Given the description of an element on the screen output the (x, y) to click on. 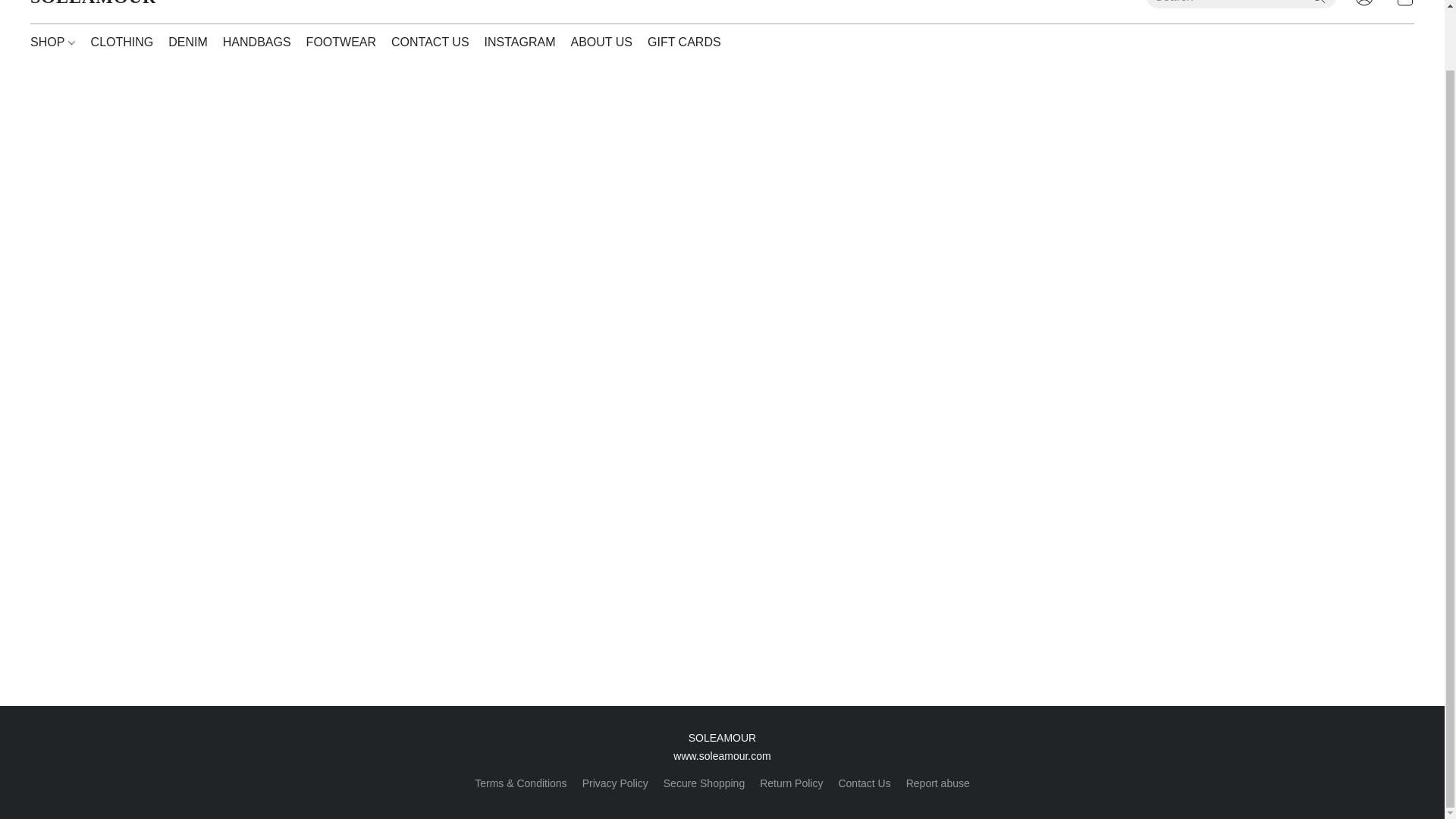
Contact Us (863, 782)
Go to your shopping cart (1404, 6)
DENIM (187, 41)
SOLEAMOUR (92, 7)
ABOUT US (601, 41)
GIFT CARDS (680, 41)
CLOTHING (121, 41)
CONTACT US (430, 41)
Privacy Policy (614, 782)
INSTAGRAM (520, 41)
